Given the description of an element on the screen output the (x, y) to click on. 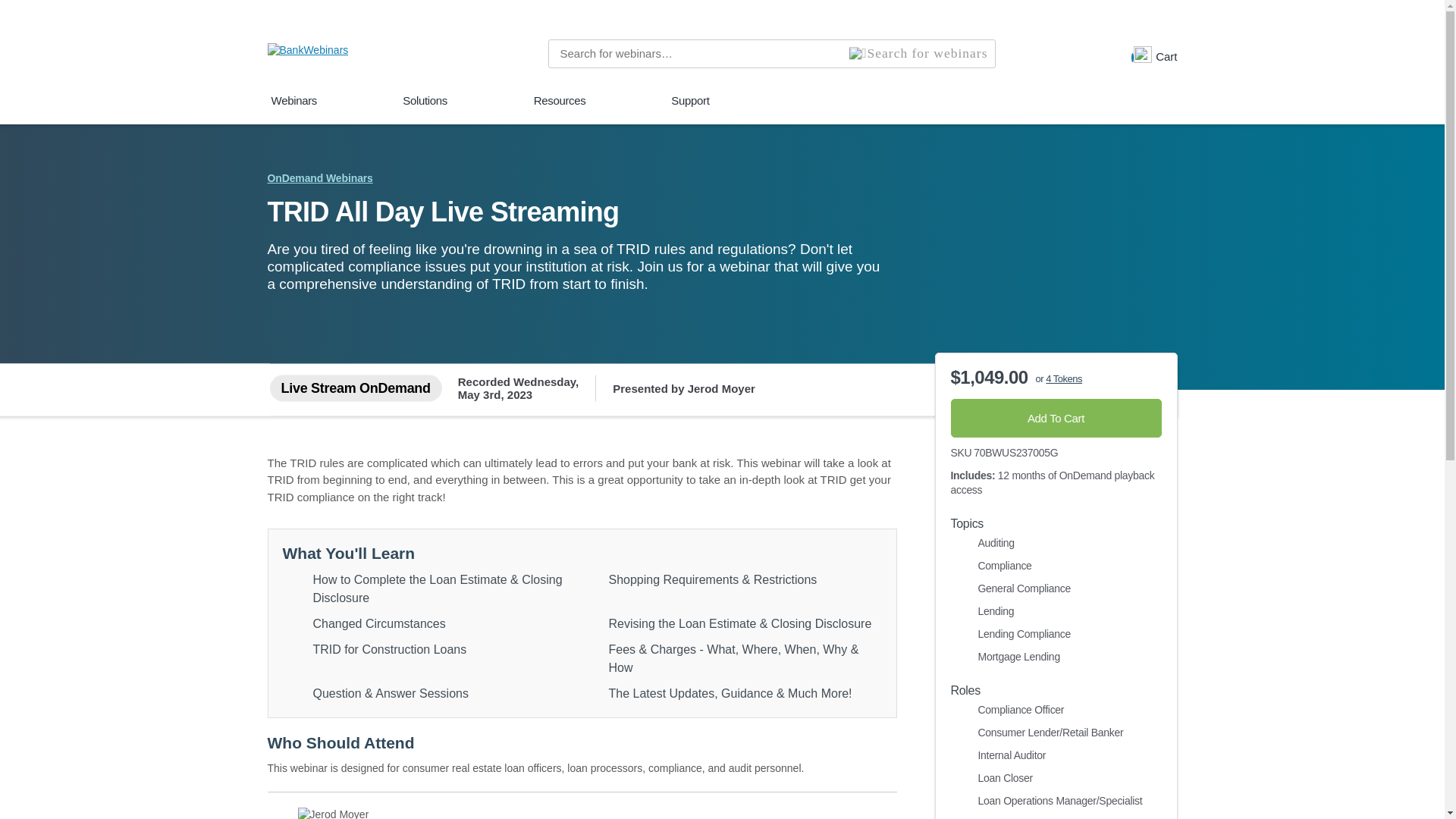
Resources (559, 107)
BankWebinars (306, 53)
Solutions (424, 107)
Search (917, 53)
Webinars (293, 107)
